Given the description of an element on the screen output the (x, y) to click on. 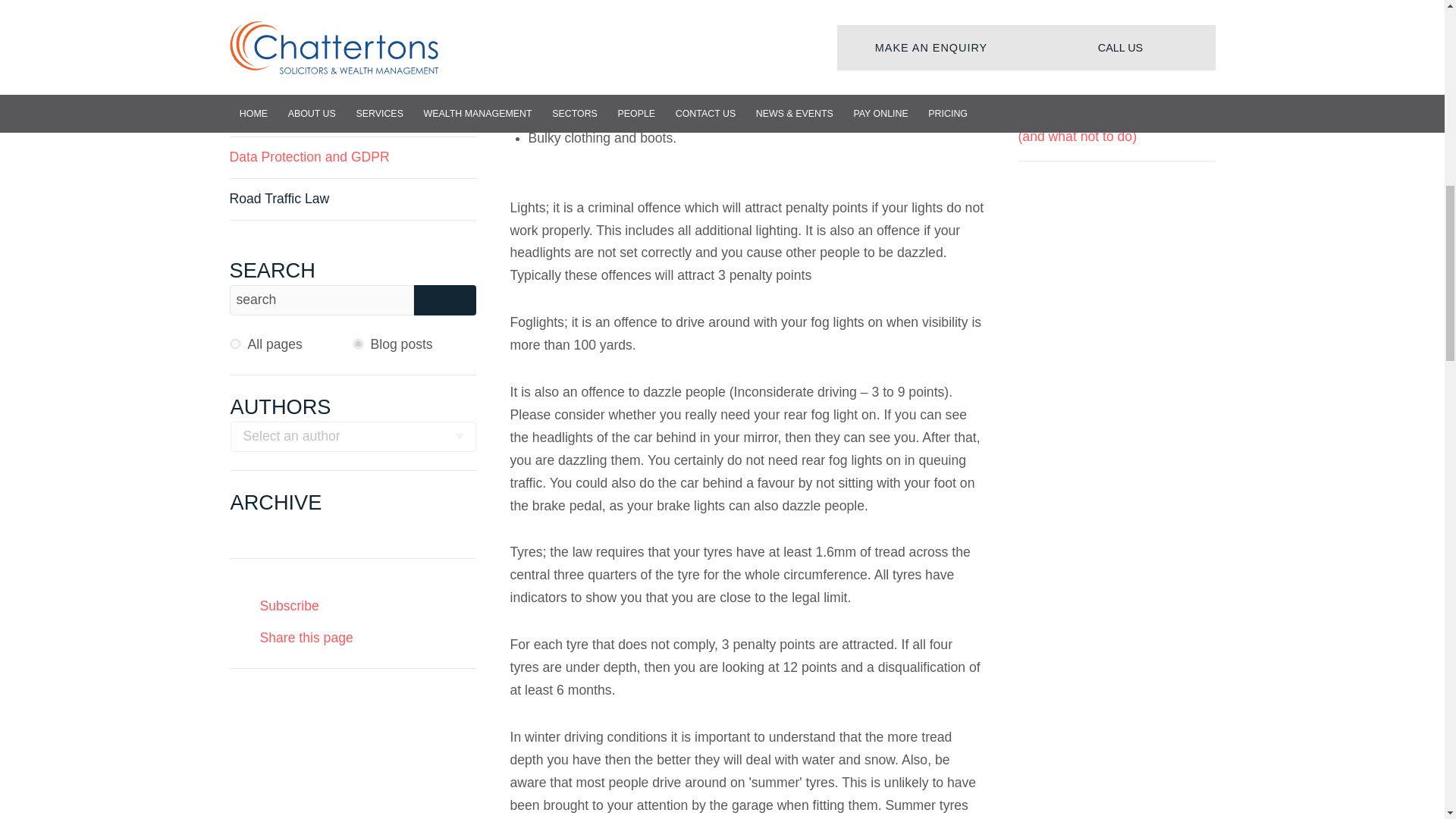
search (320, 300)
all pages (235, 343)
search (320, 300)
all pages (235, 343)
blogs (357, 343)
blogs (357, 343)
